Given the description of an element on the screen output the (x, y) to click on. 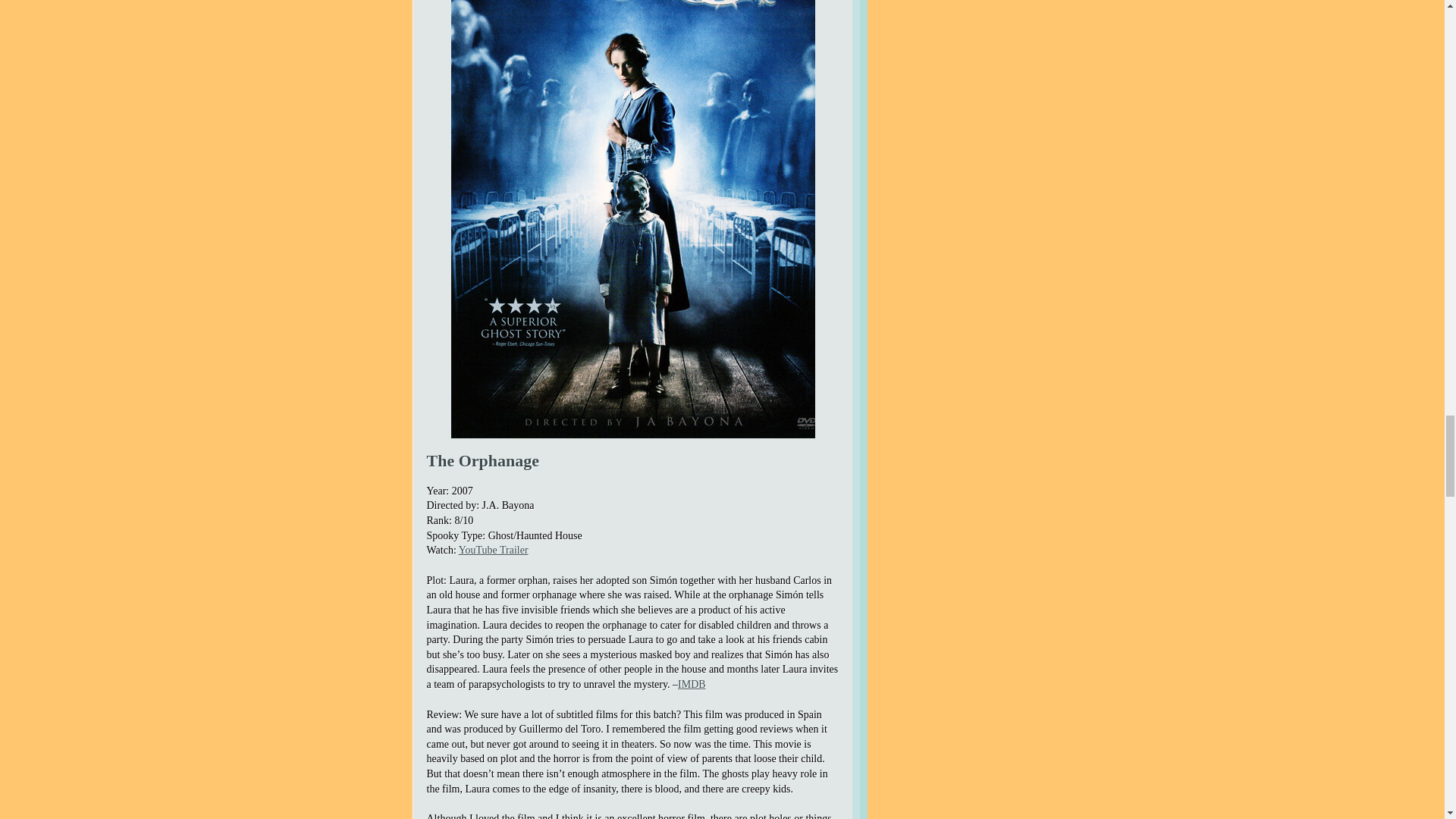
IMDB (692, 684)
YouTube Trailer (493, 550)
